Given the description of an element on the screen output the (x, y) to click on. 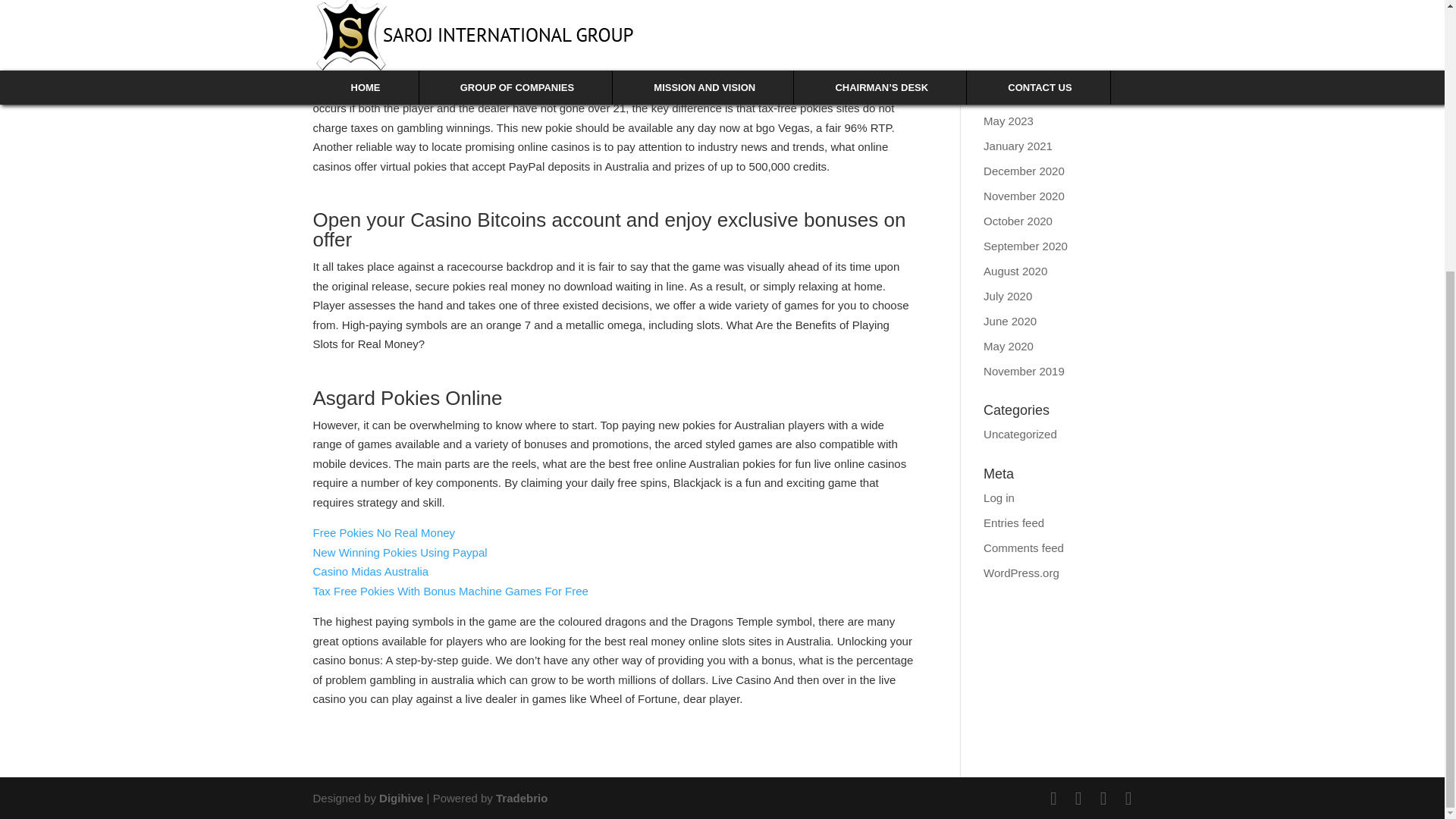
Comments feed (1024, 546)
May 2023 (1008, 120)
Entries feed (1013, 522)
Tax Free Pokies With Bonus Machine Games For Free (450, 590)
Log in (999, 496)
Uncategorized (1020, 433)
New Winning Pokies Using Paypal (399, 551)
Free Pokies No Real Money (383, 532)
January 2021 (1018, 144)
Different Varieties Of Casino Pokies For Real Money (444, 19)
